Given the description of an element on the screen output the (x, y) to click on. 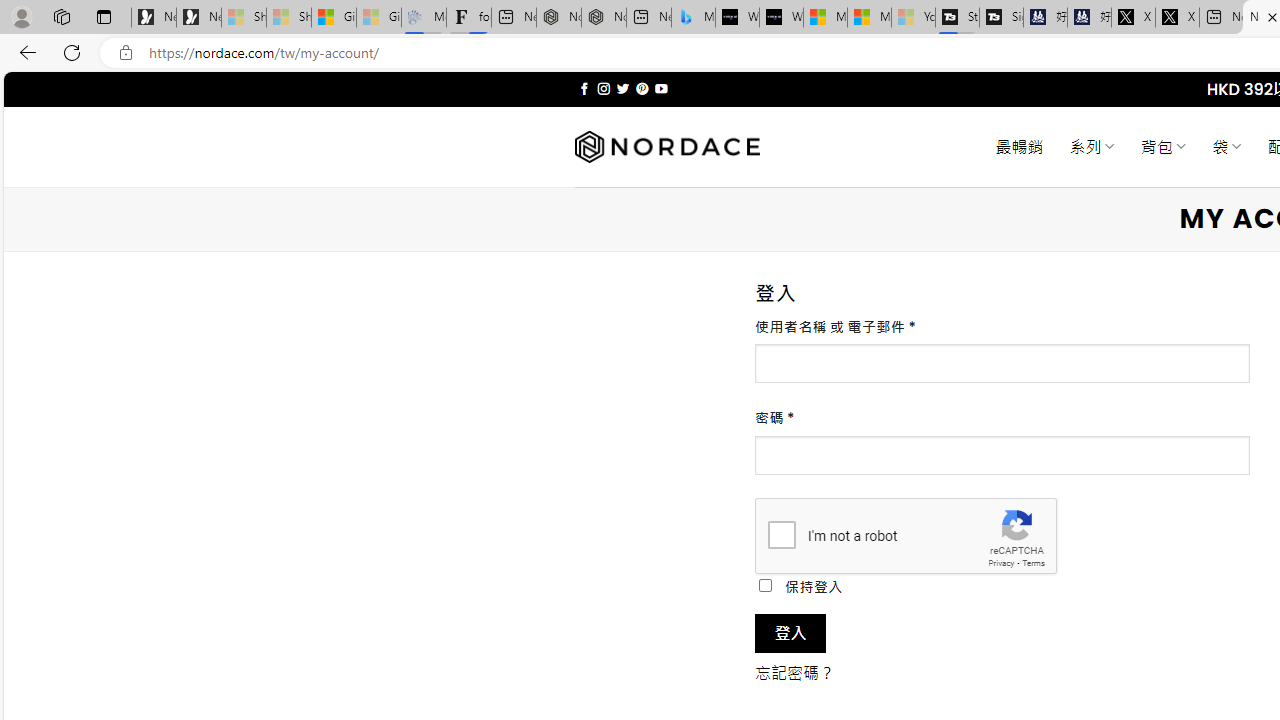
Follow on Facebook (584, 88)
